Given the description of an element on the screen output the (x, y) to click on. 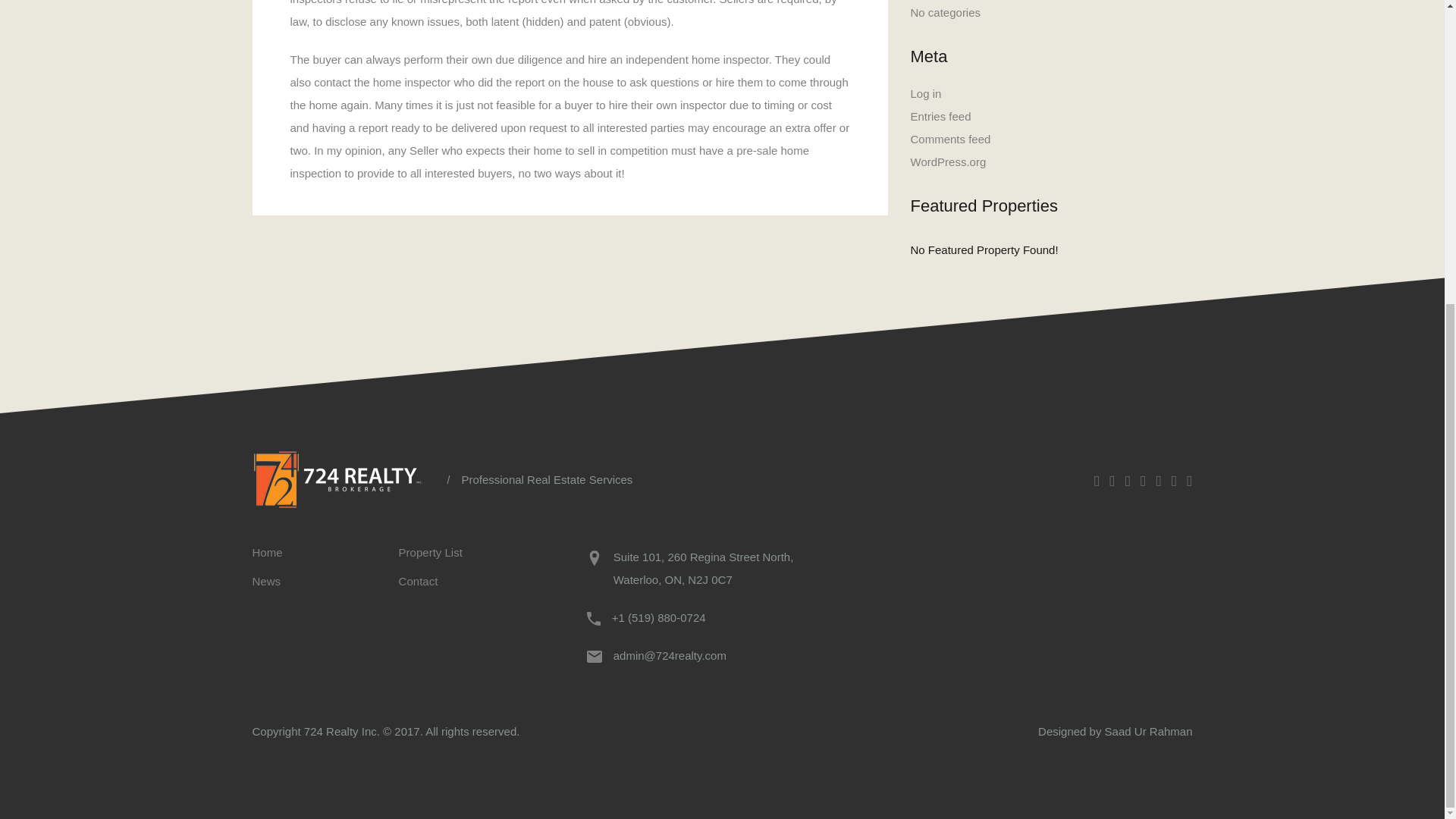
Home (266, 552)
News (266, 581)
Property List (430, 552)
Entries feed (940, 116)
Log in (925, 93)
724 Realty (343, 479)
WordPress.org (947, 161)
Comments feed (950, 139)
